Given the description of an element on the screen output the (x, y) to click on. 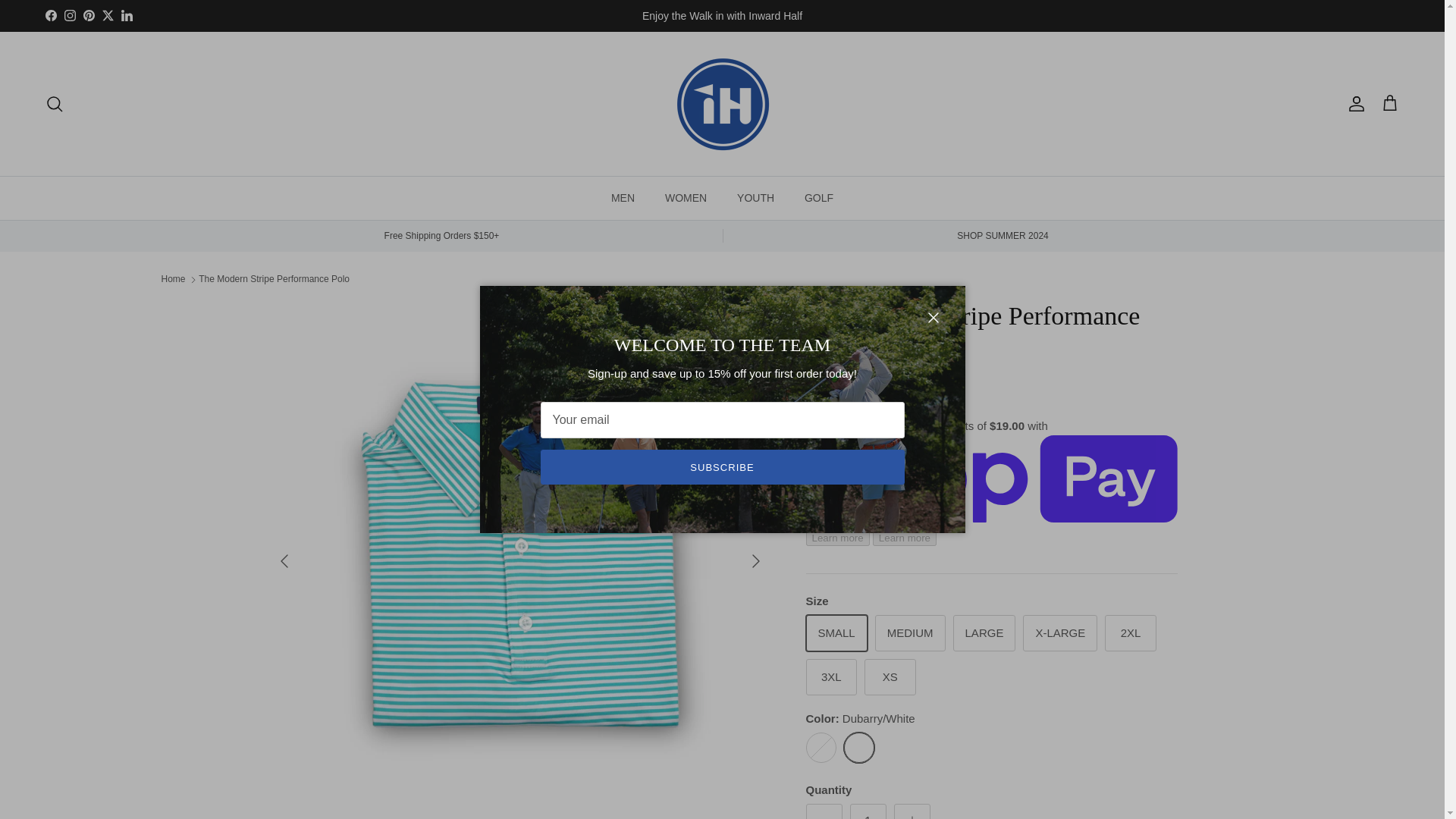
Inward Half  on Twitter (107, 15)
Inward Half  on Pinterest (88, 15)
Inward Half  on Facebook (50, 15)
Search (54, 104)
Pinterest (88, 15)
Instagram (69, 15)
GOLF (818, 198)
WOMEN (685, 198)
LinkedIn (126, 15)
Inward Half  on Instagram (69, 15)
Sold out (820, 747)
Inward Half  (721, 103)
Twitter (107, 15)
Cart (1389, 103)
YOUTH (755, 198)
